Given the description of an element on the screen output the (x, y) to click on. 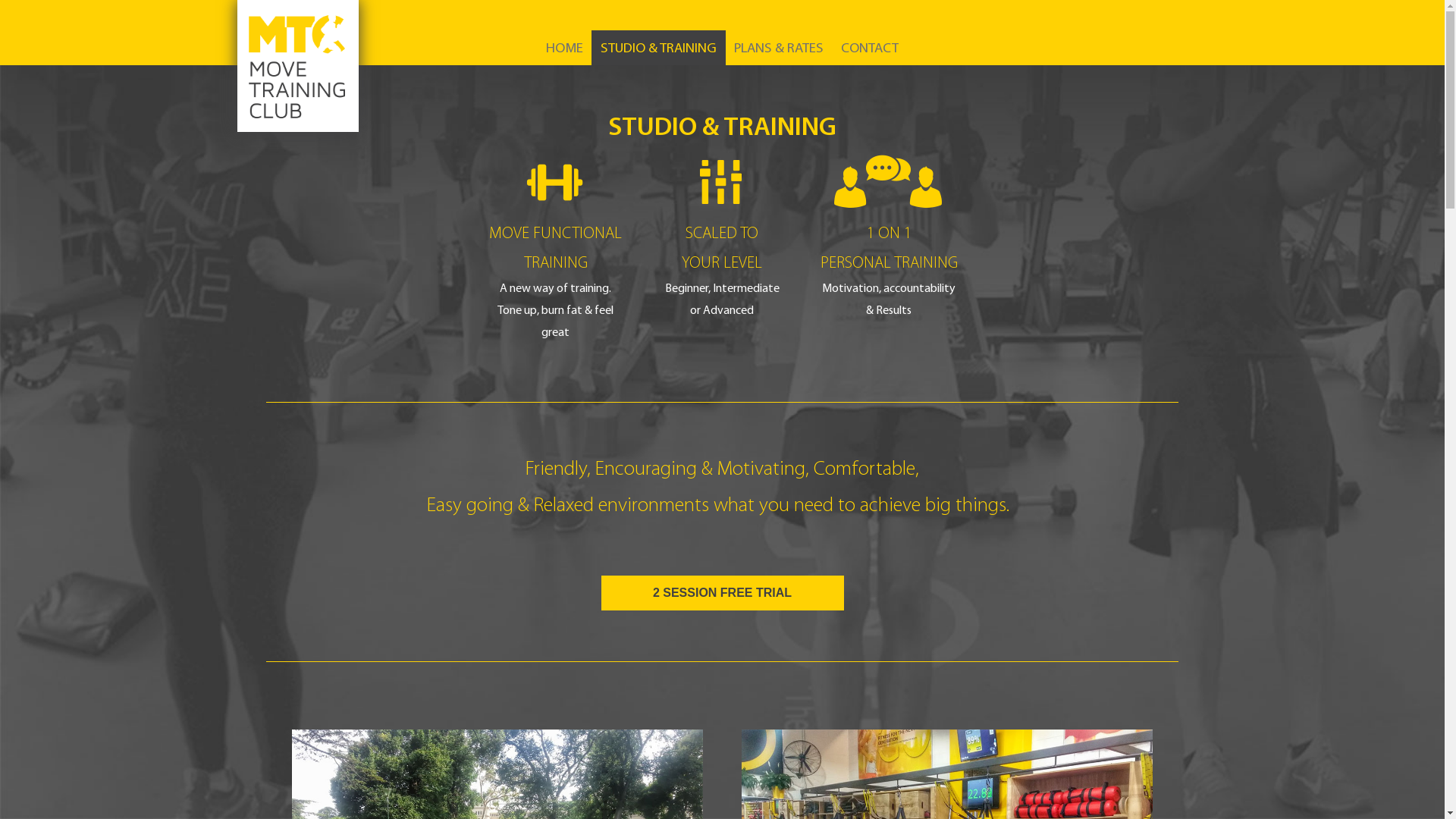
HOME Element type: text (564, 47)
PLANS & RATES Element type: text (778, 47)
STUDIO & TRAINING Element type: text (658, 47)
2 SESSION FREE TRIAL Element type: text (721, 592)
2 SESSION FREE TRIAL Element type: text (721, 593)
Move Training Club's Logo Element type: hover (296, 65)
CONTACT Element type: text (869, 47)
